Given the description of an element on the screen output the (x, y) to click on. 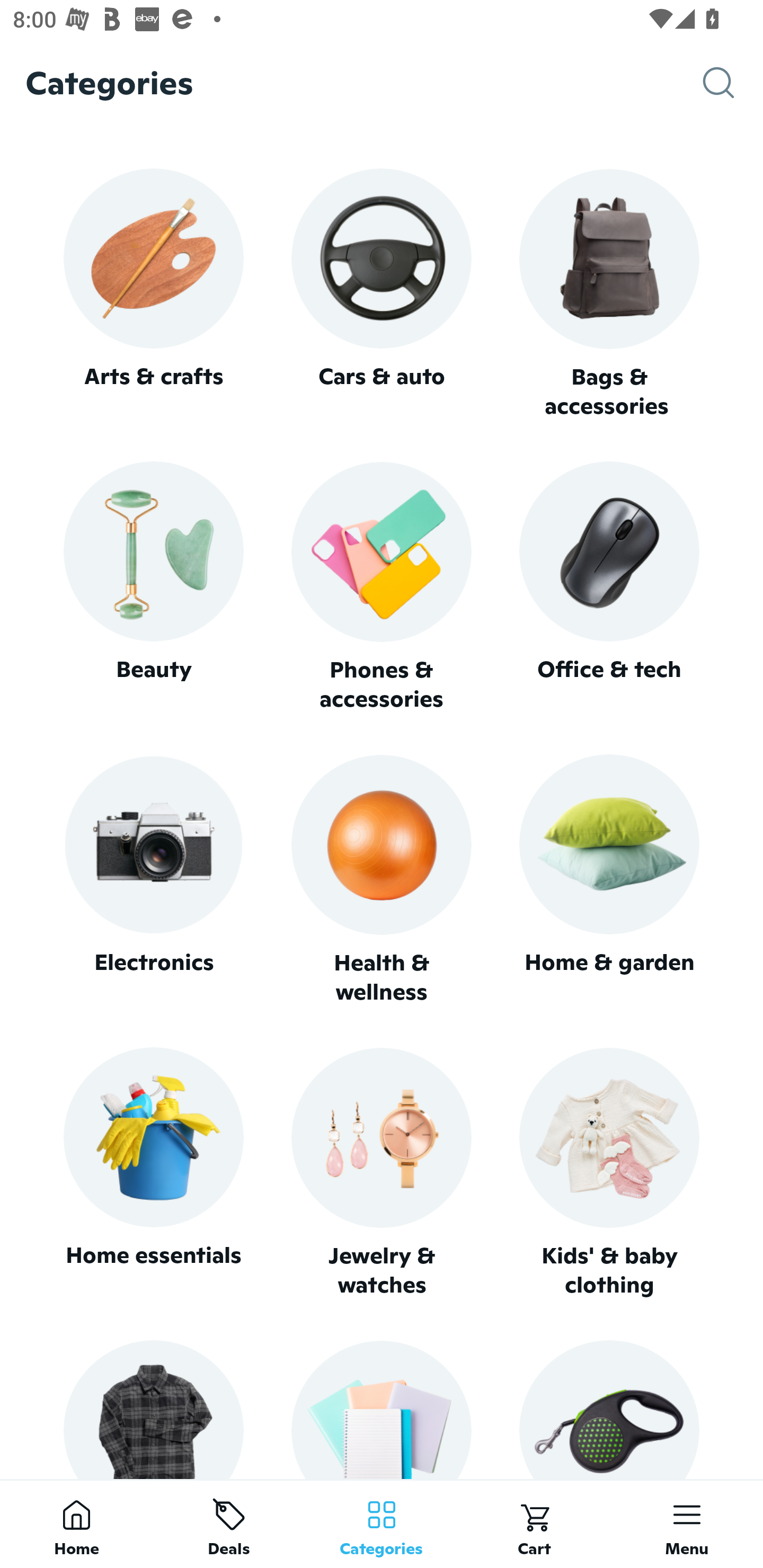
Search (732, 82)
Arts & crafts (153, 293)
Cars & auto (381, 293)
Bags & accessories  (609, 294)
Beauty (153, 586)
Office & tech (609, 586)
Phones & accessories (381, 587)
Electronics (153, 880)
Home & garden (609, 880)
Health & wellness (381, 880)
Home essentials (153, 1172)
Jewelry & watches (381, 1172)
Kids' & baby clothing (609, 1172)
Men's clothing (153, 1409)
Pet supplies (609, 1409)
Office & school supplies (381, 1409)
Home (76, 1523)
Deals (228, 1523)
Categories (381, 1523)
Cart (533, 1523)
Menu (686, 1523)
